Given the description of an element on the screen output the (x, y) to click on. 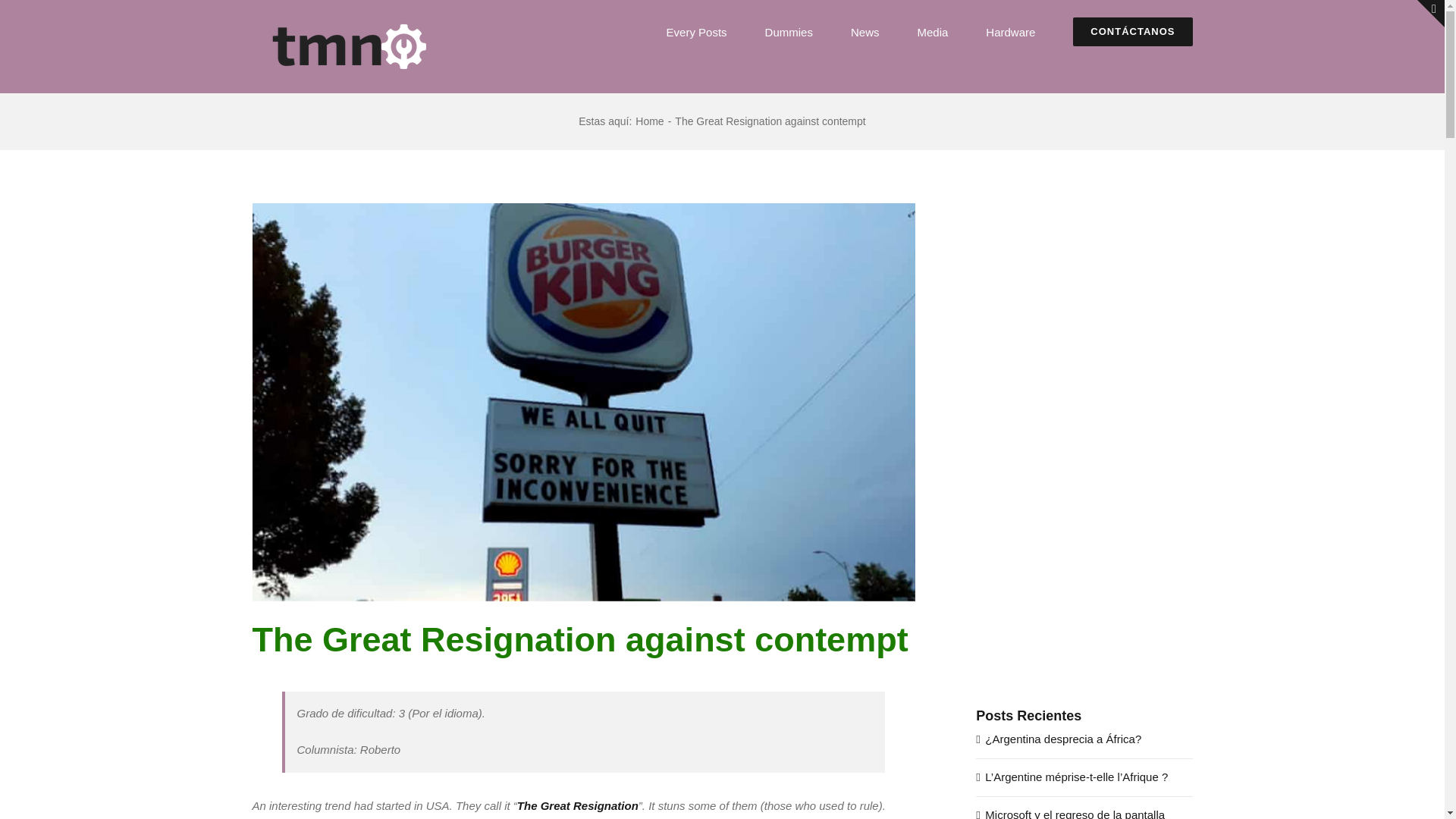
Home (648, 121)
Every Posts (696, 31)
The Great Resignation (577, 805)
